Given the description of an element on the screen output the (x, y) to click on. 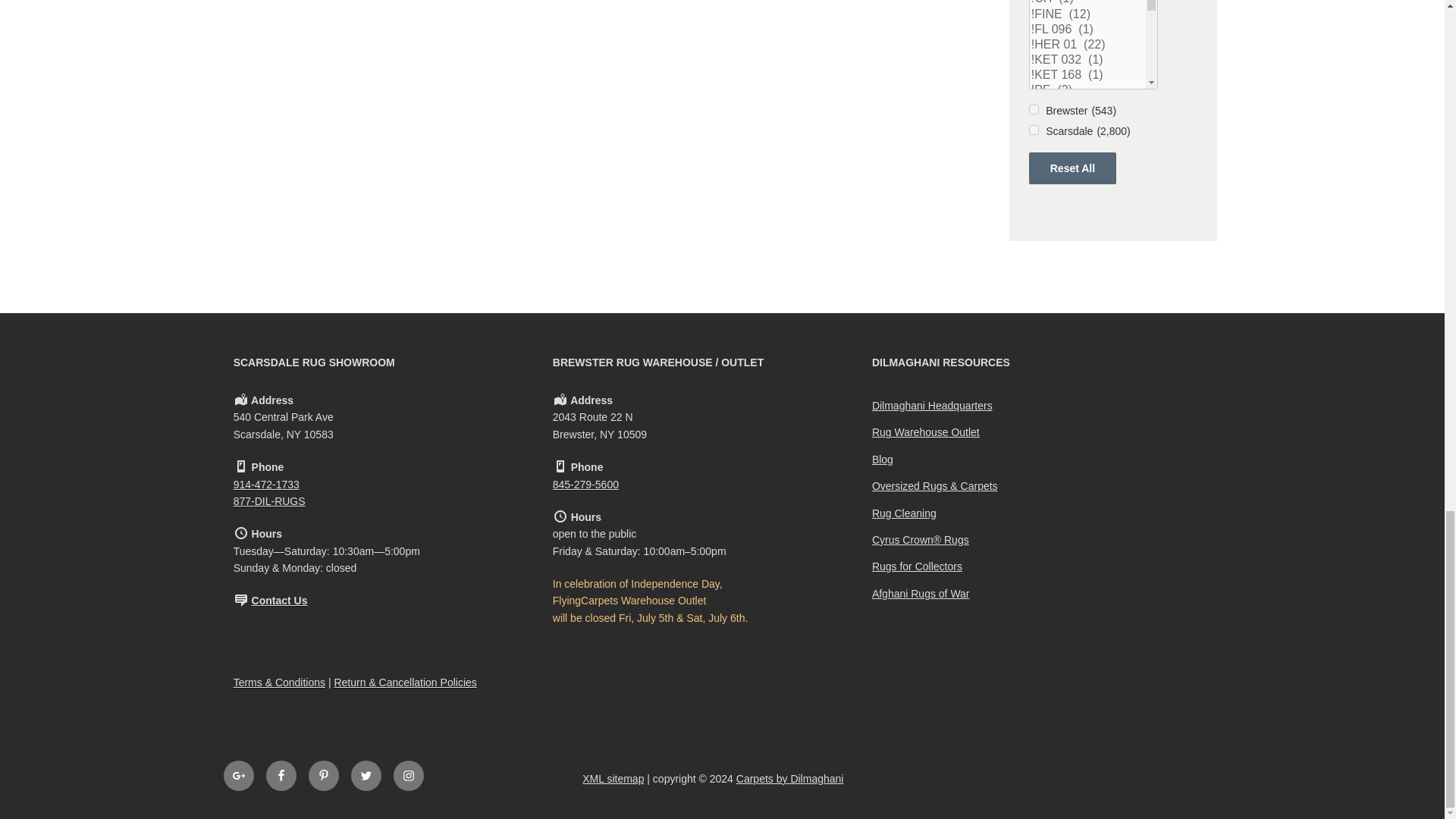
Brewster (1034, 109)
Scarsdale (1034, 130)
Reset all (1072, 168)
Reset all (1072, 168)
